Given the description of an element on the screen output the (x, y) to click on. 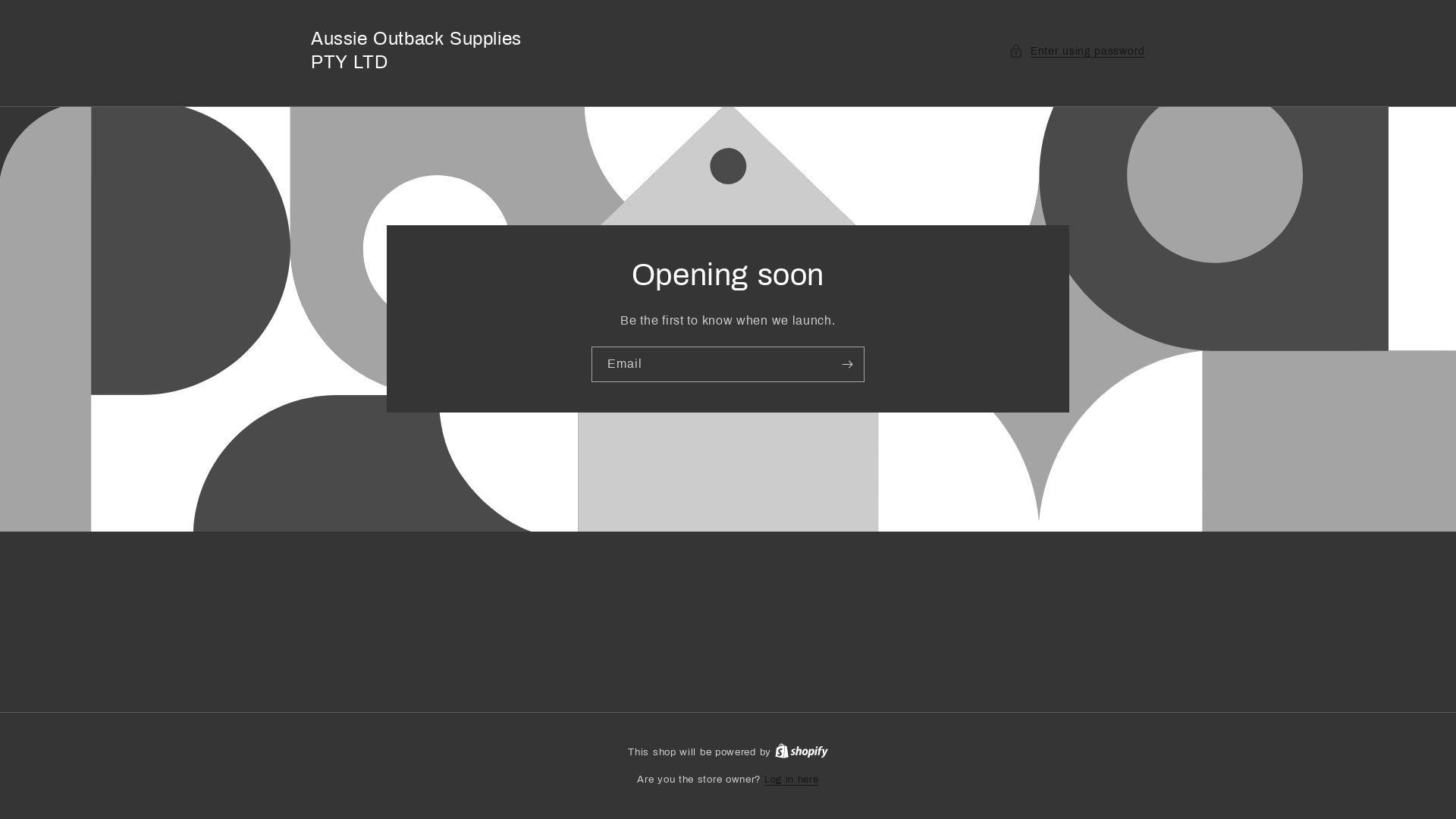
Log in here Element type: text (791, 779)
